Given the description of an element on the screen output the (x, y) to click on. 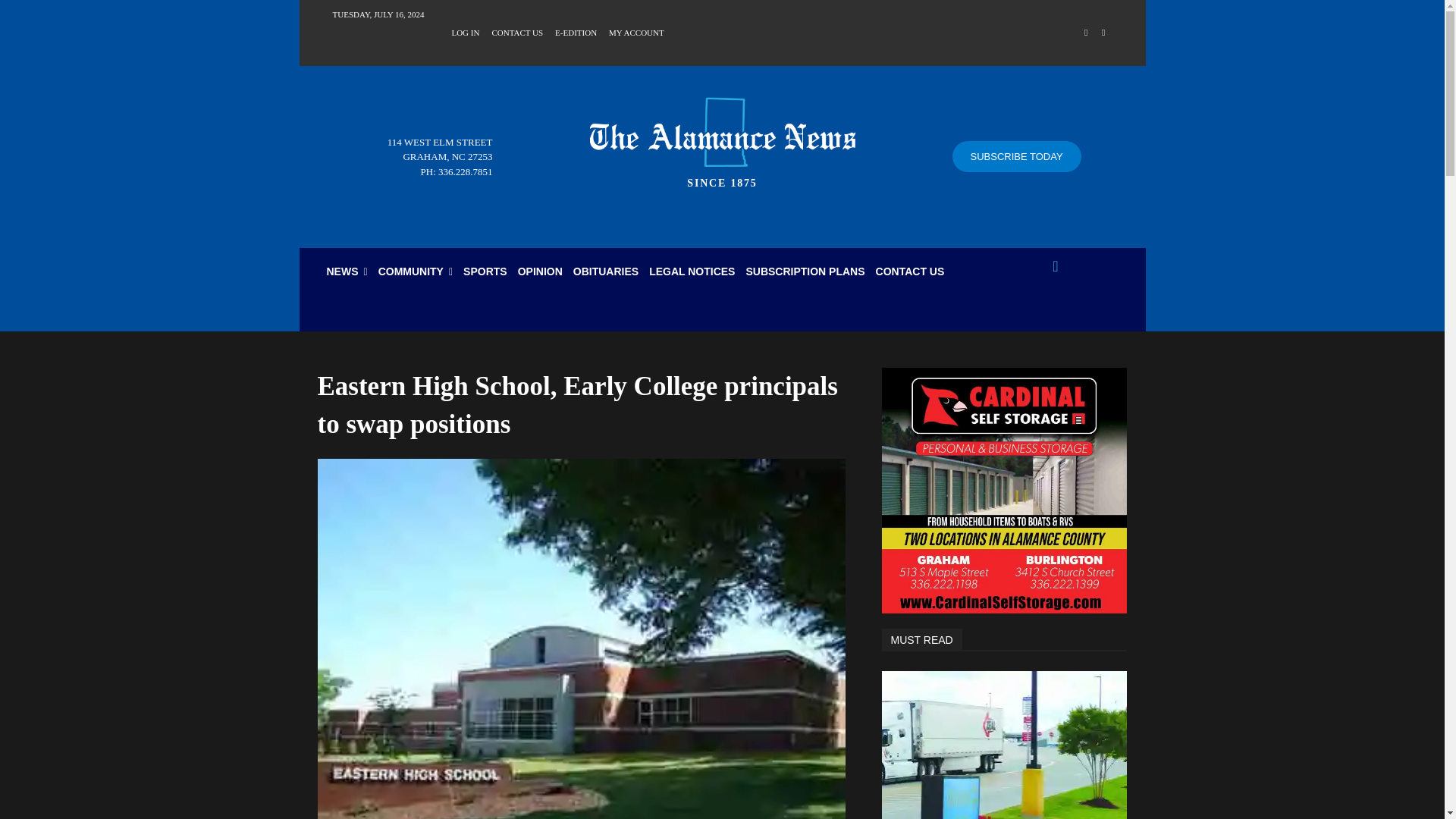
Facebook (1085, 32)
MY ACCOUNT (635, 31)
SUBSCRIBE TODAY (1016, 155)
CONTACT US (517, 31)
LOG IN (465, 31)
COMMUNITY (415, 271)
SUBSCRIBE TODAY (1016, 155)
SINCE 1875 (722, 138)
Twitter (1103, 32)
NEWS (346, 271)
The Alamance News Logo (722, 138)
E-EDITION (575, 31)
The Alamance News Logo (722, 132)
